Given the description of an element on the screen output the (x, y) to click on. 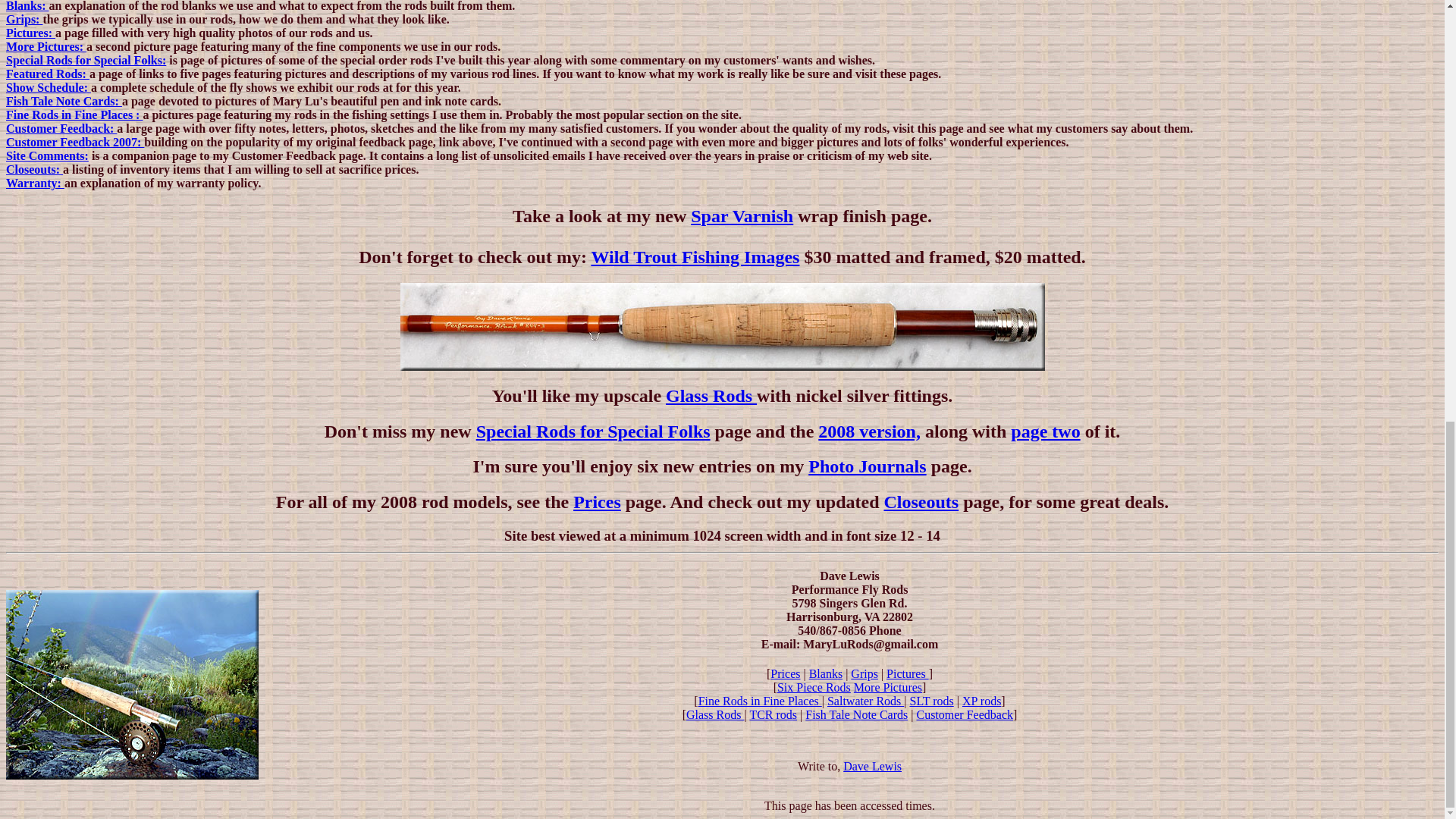
Pictures: (30, 32)
More Pictures (887, 686)
Saltwater Rods (865, 700)
Show Schedule: (47, 87)
Customer Feedback 2007: (74, 141)
Wild Trout Fishing Images (695, 256)
Blanks (826, 673)
Closeouts (921, 501)
Six Piece Rods (813, 686)
Blanks: (26, 6)
